Given the description of an element on the screen output the (x, y) to click on. 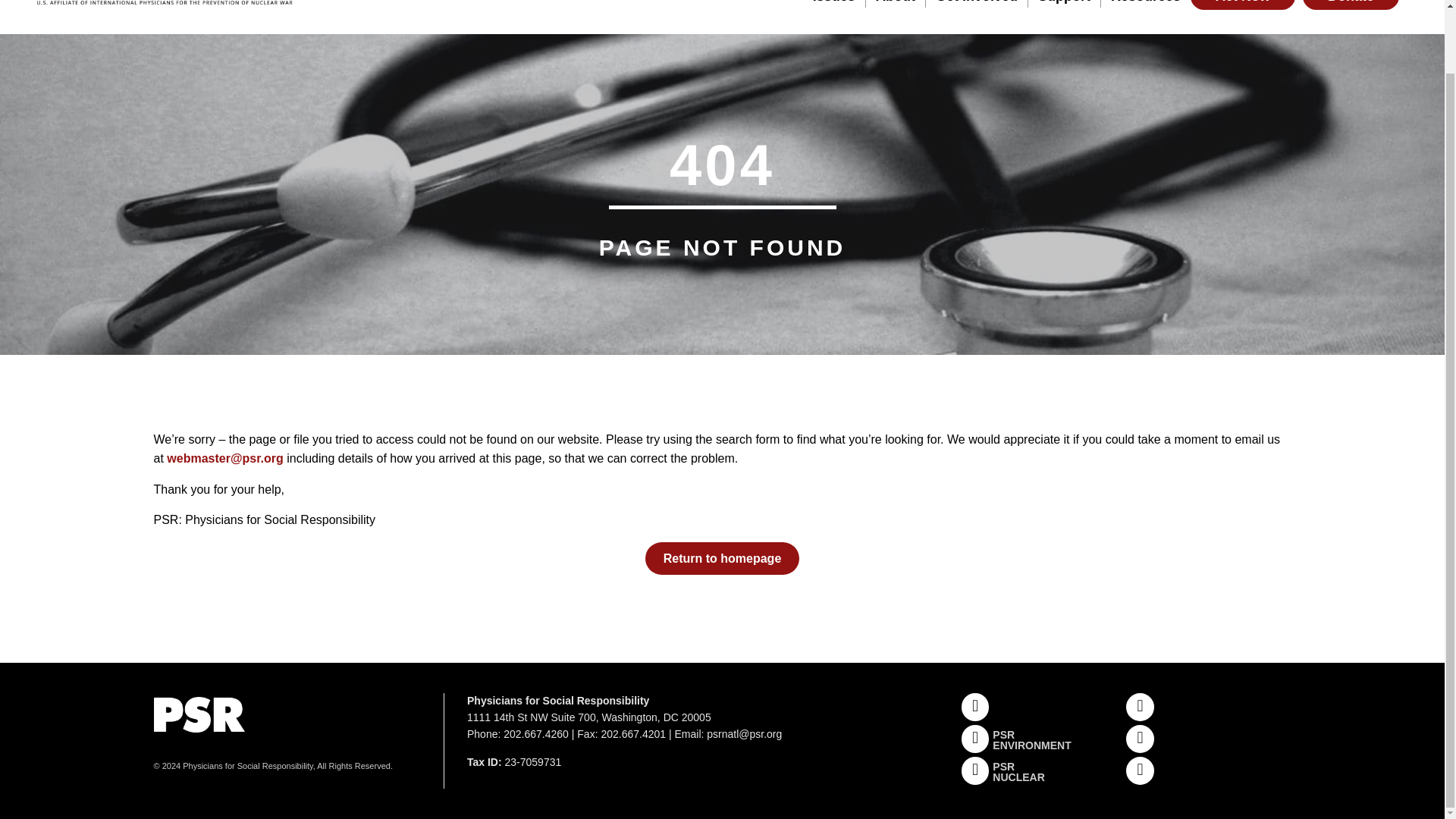
Facebook (975, 706)
Issues (834, 3)
Twitter Environment (975, 738)
PSR Logo (162, 4)
instagram (1139, 706)
youtube (1139, 738)
Twitter Nuclear (975, 770)
About (896, 3)
linkedin (1139, 770)
